Given the description of an element on the screen output the (x, y) to click on. 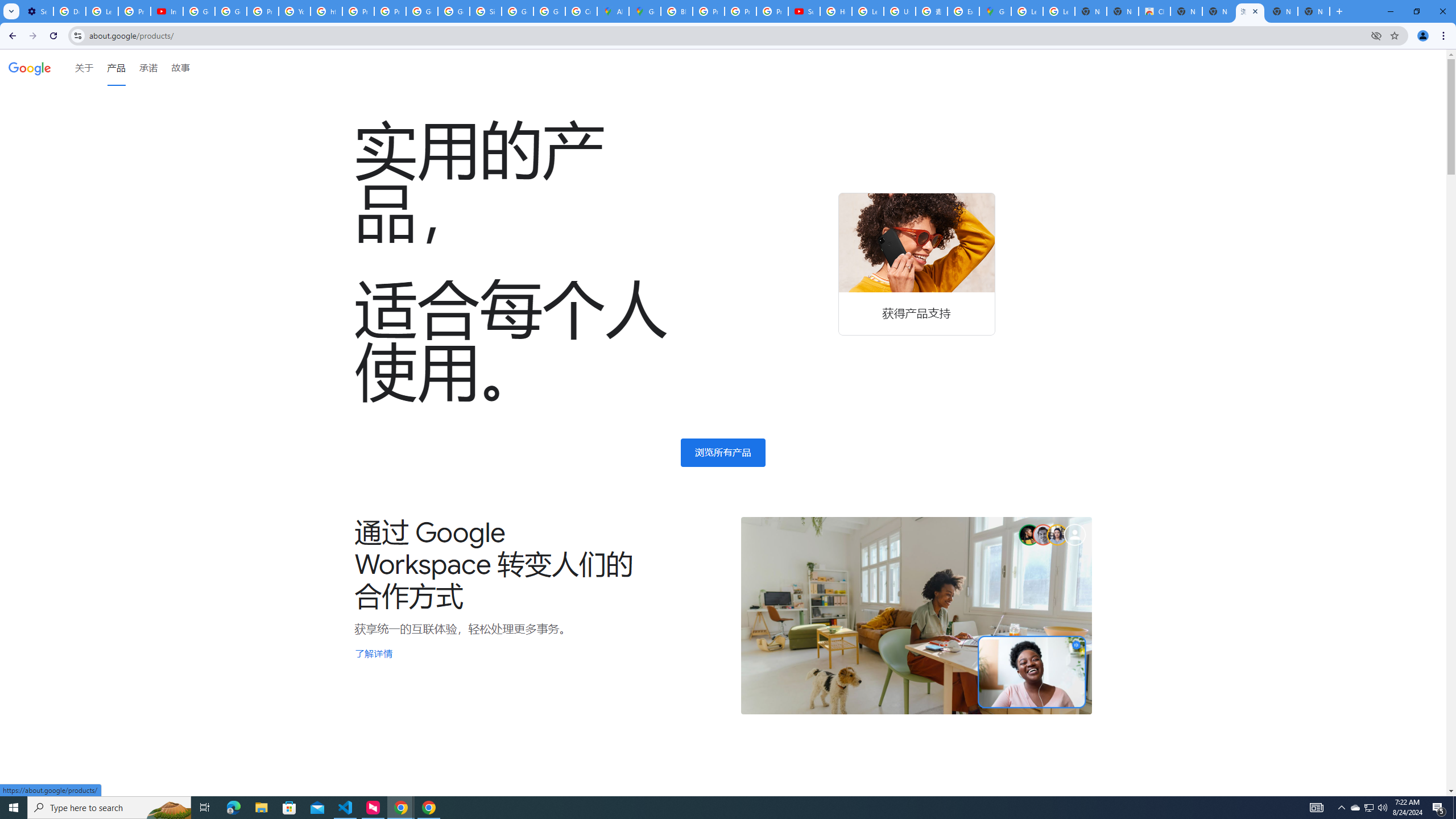
Privacy Help Center - Policies Help (262, 11)
Subscriptions - YouTube (804, 11)
Google Maps (644, 11)
Delete photos & videos - Computer - Google Photos Help (69, 11)
